Given the description of an element on the screen output the (x, y) to click on. 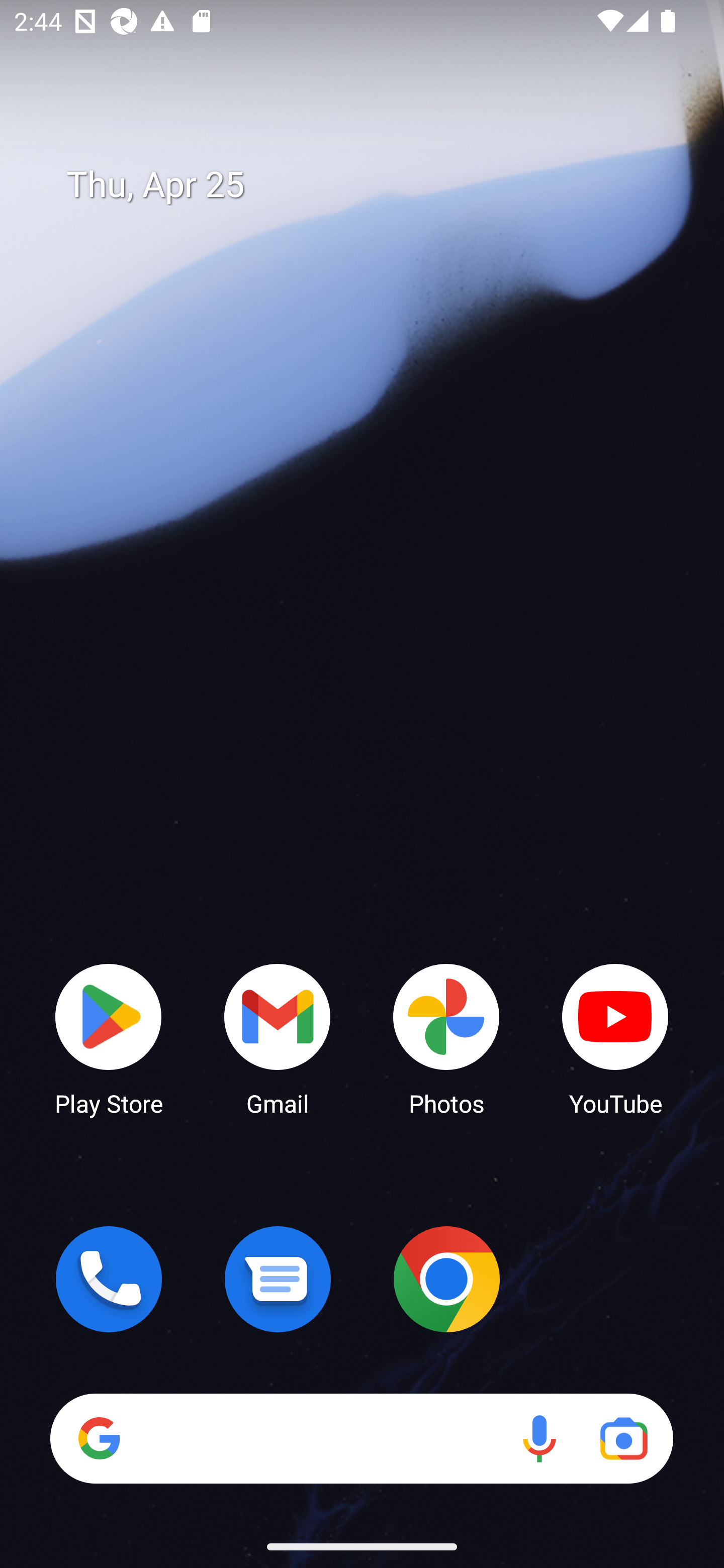
Thu, Apr 25 (375, 184)
Play Store (108, 1038)
Gmail (277, 1038)
Photos (445, 1038)
YouTube (615, 1038)
Phone (108, 1279)
Messages (277, 1279)
Chrome (446, 1279)
Search Voice search Google Lens (361, 1438)
Voice search (539, 1438)
Google Lens (623, 1438)
